Given the description of an element on the screen output the (x, y) to click on. 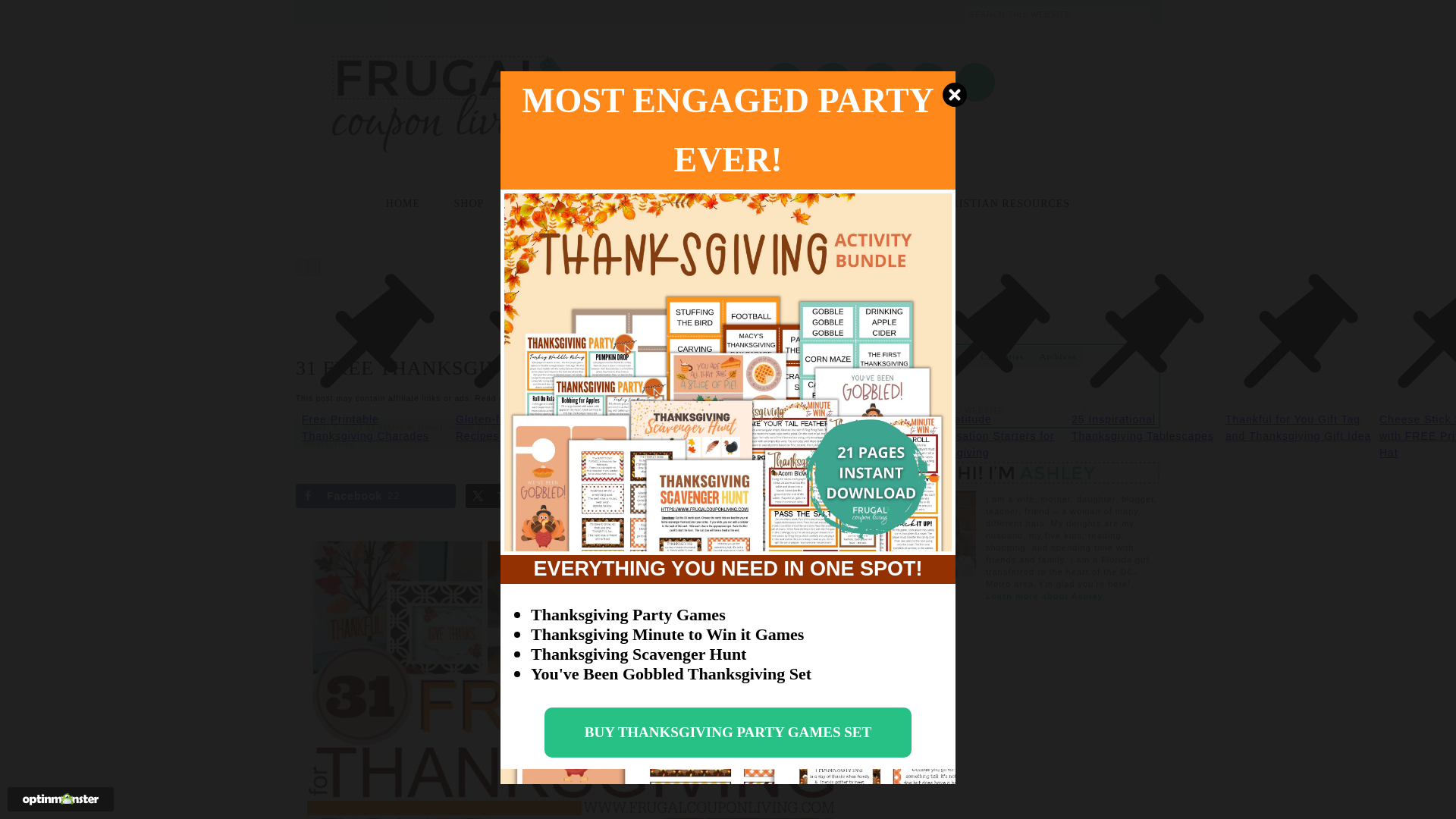
SEASONAL (869, 203)
PARTY (715, 203)
DEALS (786, 203)
Share on X (545, 495)
PRINTABLES (553, 203)
Frugal Coupon Living (447, 90)
SHOP (469, 203)
GAMES (642, 203)
Save to Pinterest (716, 495)
Close (954, 93)
